Given the description of an element on the screen output the (x, y) to click on. 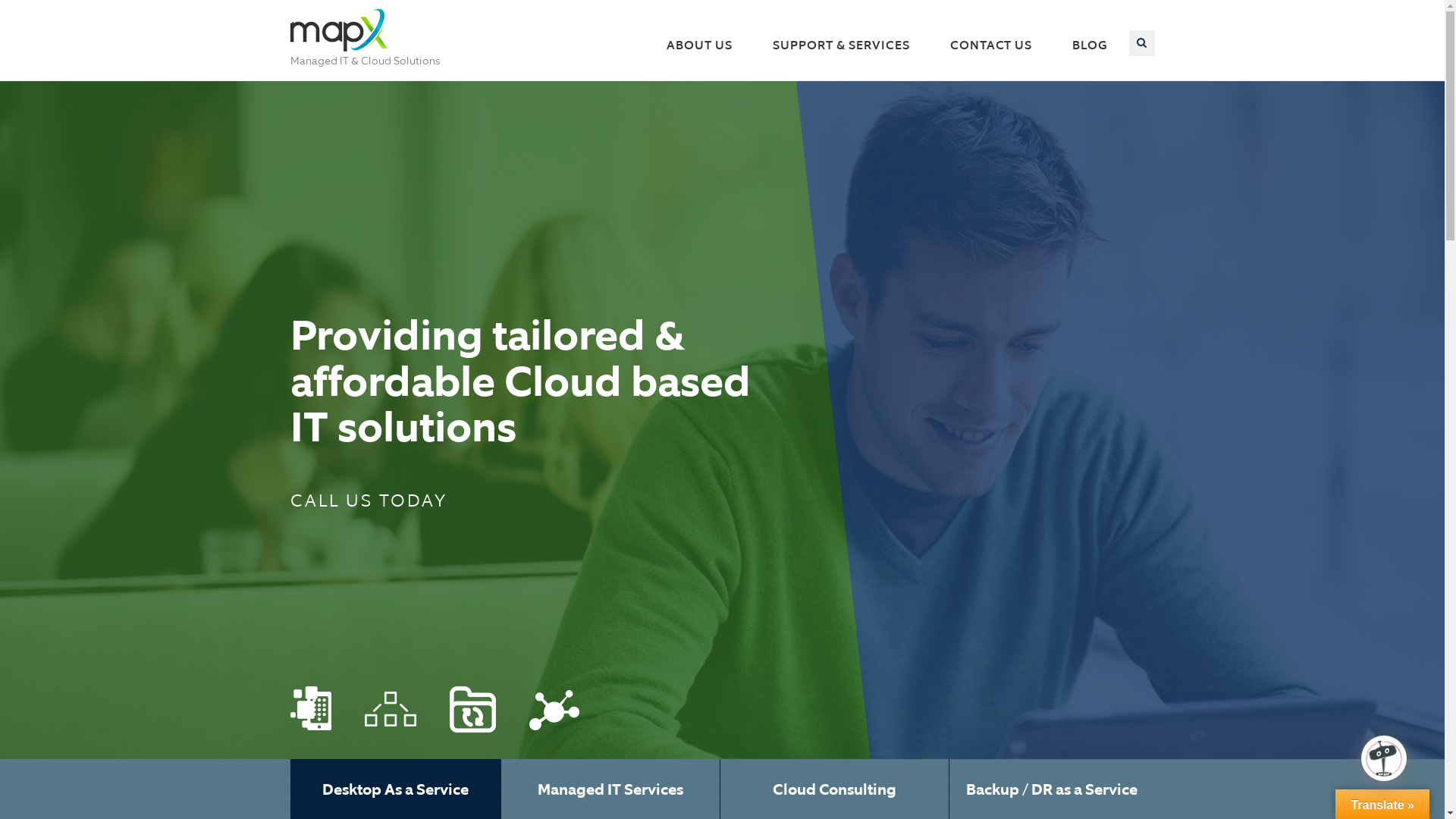
CONTACT US Element type: text (991, 45)
ABOUT US Element type: text (699, 45)
CALL US TODAY Element type: text (367, 500)
BLOG Element type: text (1089, 45)
SUPPORT & SERVICES Element type: text (840, 45)
